Given the description of an element on the screen output the (x, y) to click on. 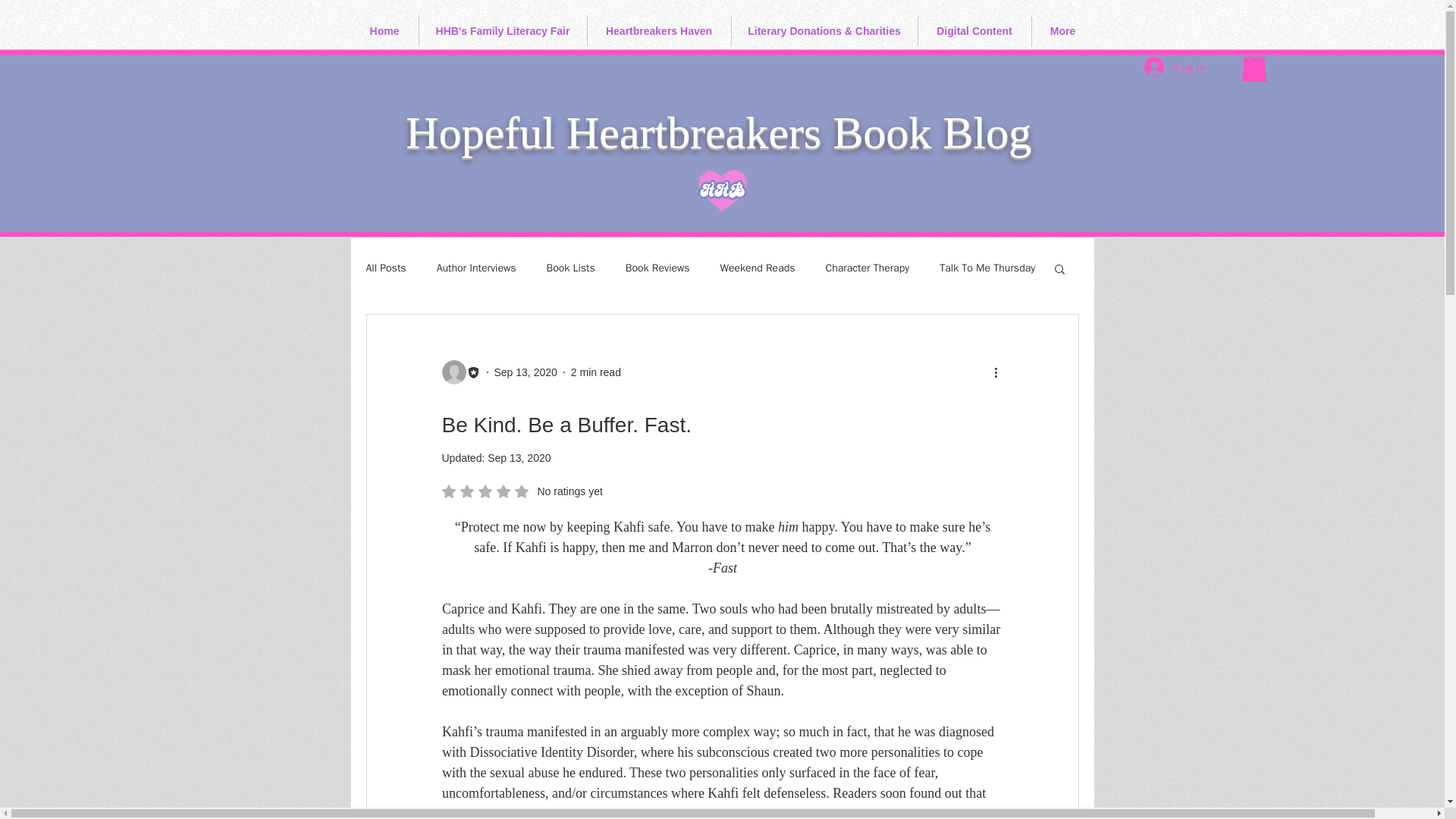
Book Lists (570, 268)
Sep 13, 2020 (526, 371)
Sep 13, 2020 (518, 458)
Weekend Reads (757, 268)
Home (383, 30)
Heartbreakers Haven (658, 30)
Book Reviews (658, 268)
Character Therapy (867, 268)
Author Interviews (476, 268)
Digital Content (973, 30)
Talk To Me Thursday (987, 268)
All Posts (385, 268)
HHB's Family Literacy Fair (502, 30)
Log In (1174, 66)
2 min read (595, 371)
